Given the description of an element on the screen output the (x, y) to click on. 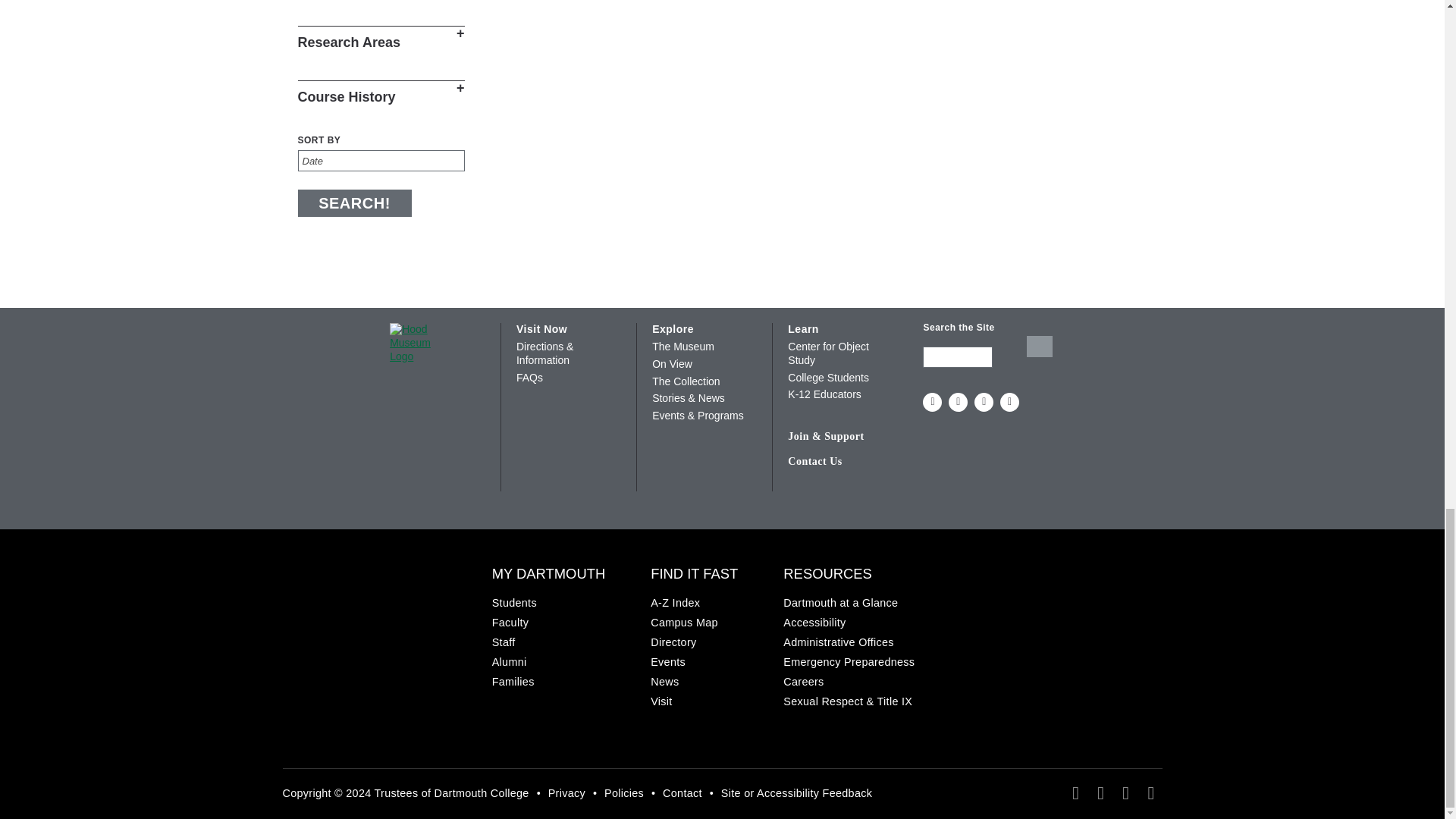
Search this site (957, 356)
